Given the description of an element on the screen output the (x, y) to click on. 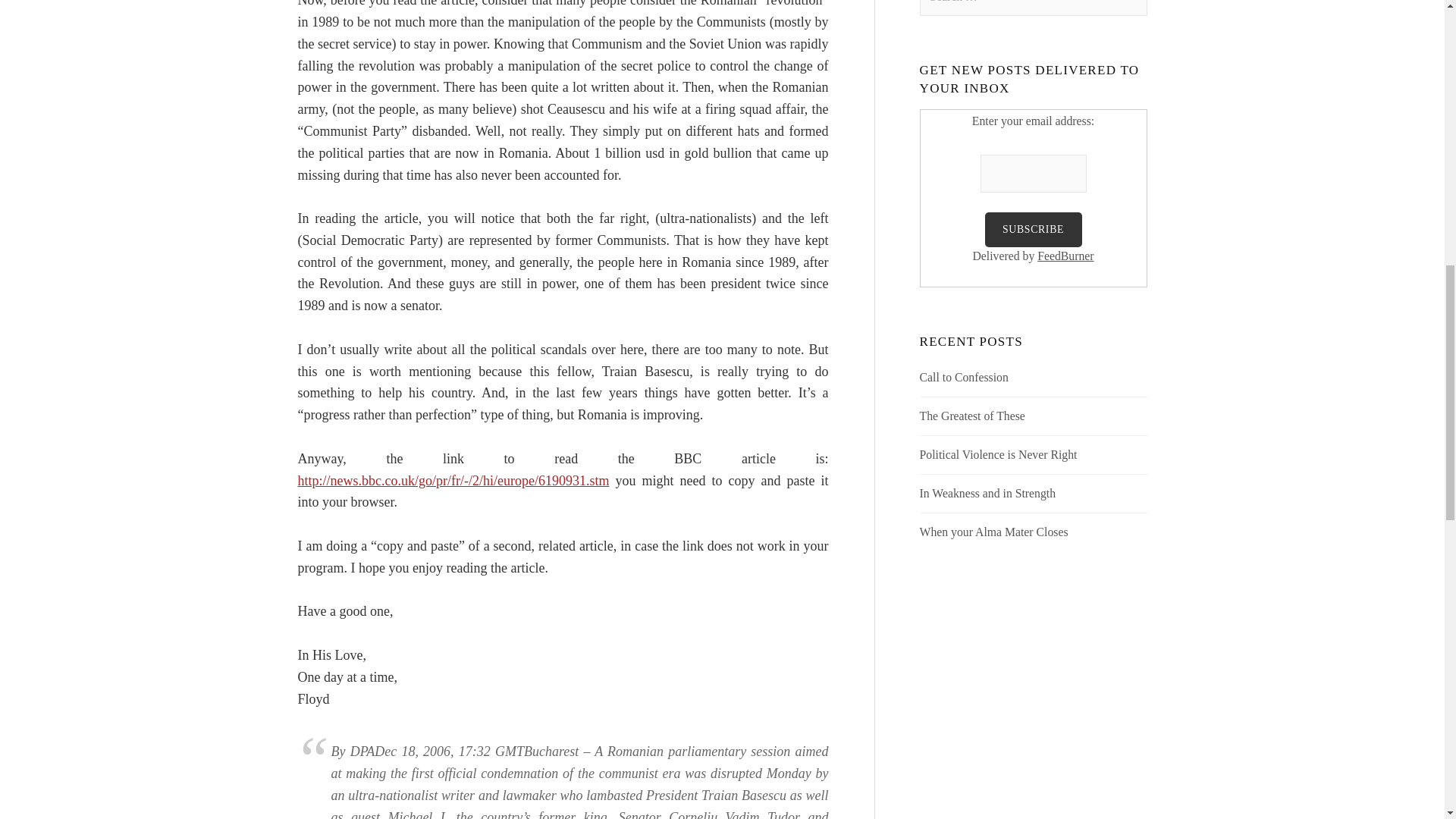
When your Alma Mater Closes (994, 531)
FeedBurner (1064, 255)
Political Violence is Never Right (998, 454)
In Weakness and in Strength (988, 492)
Subscribe (1033, 230)
Subscribe (1033, 230)
The Greatest of These (972, 415)
Call to Confession (964, 377)
